Given the description of an element on the screen output the (x, y) to click on. 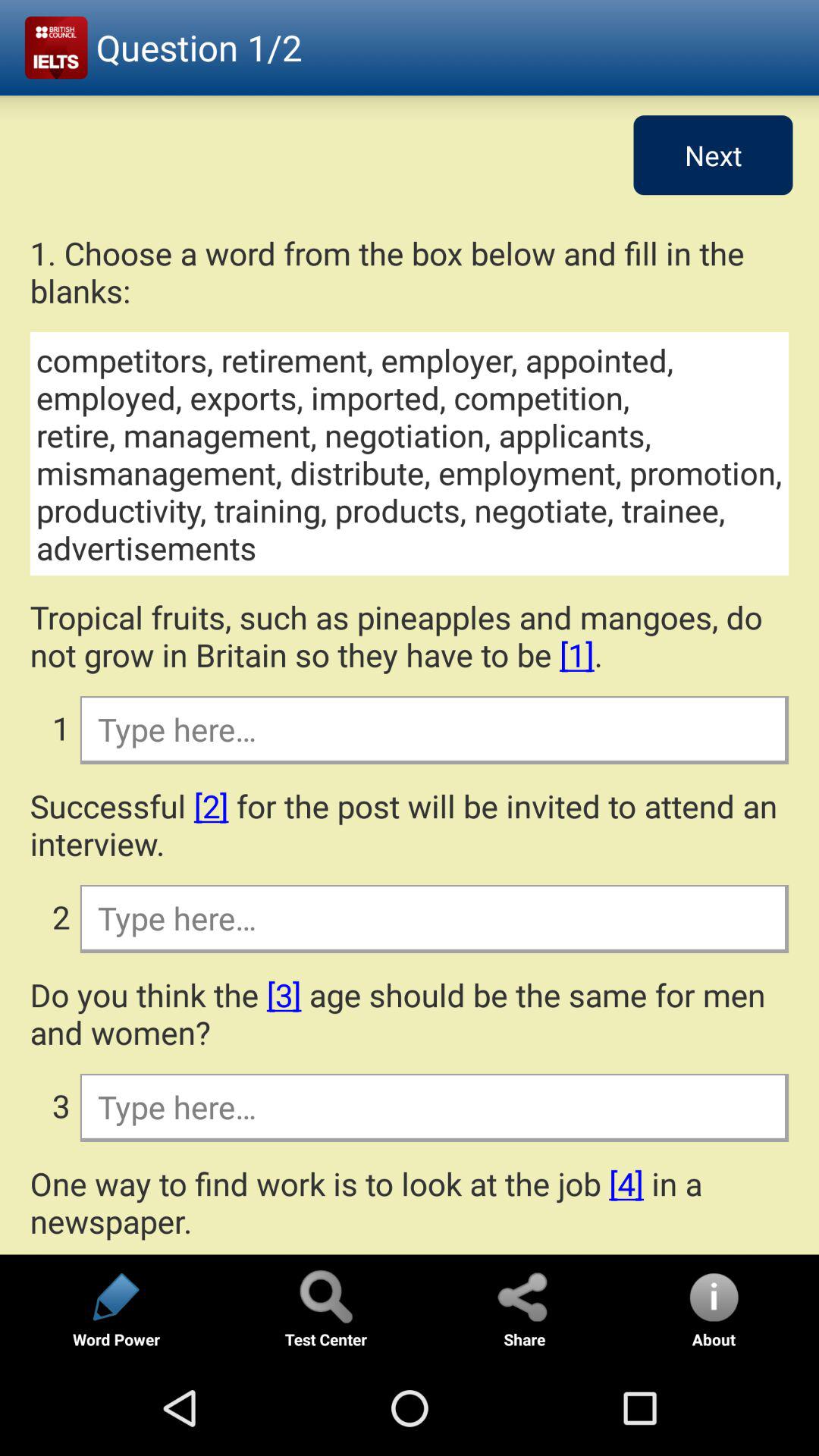
choose item at the top right corner (712, 155)
